Given the description of an element on the screen output the (x, y) to click on. 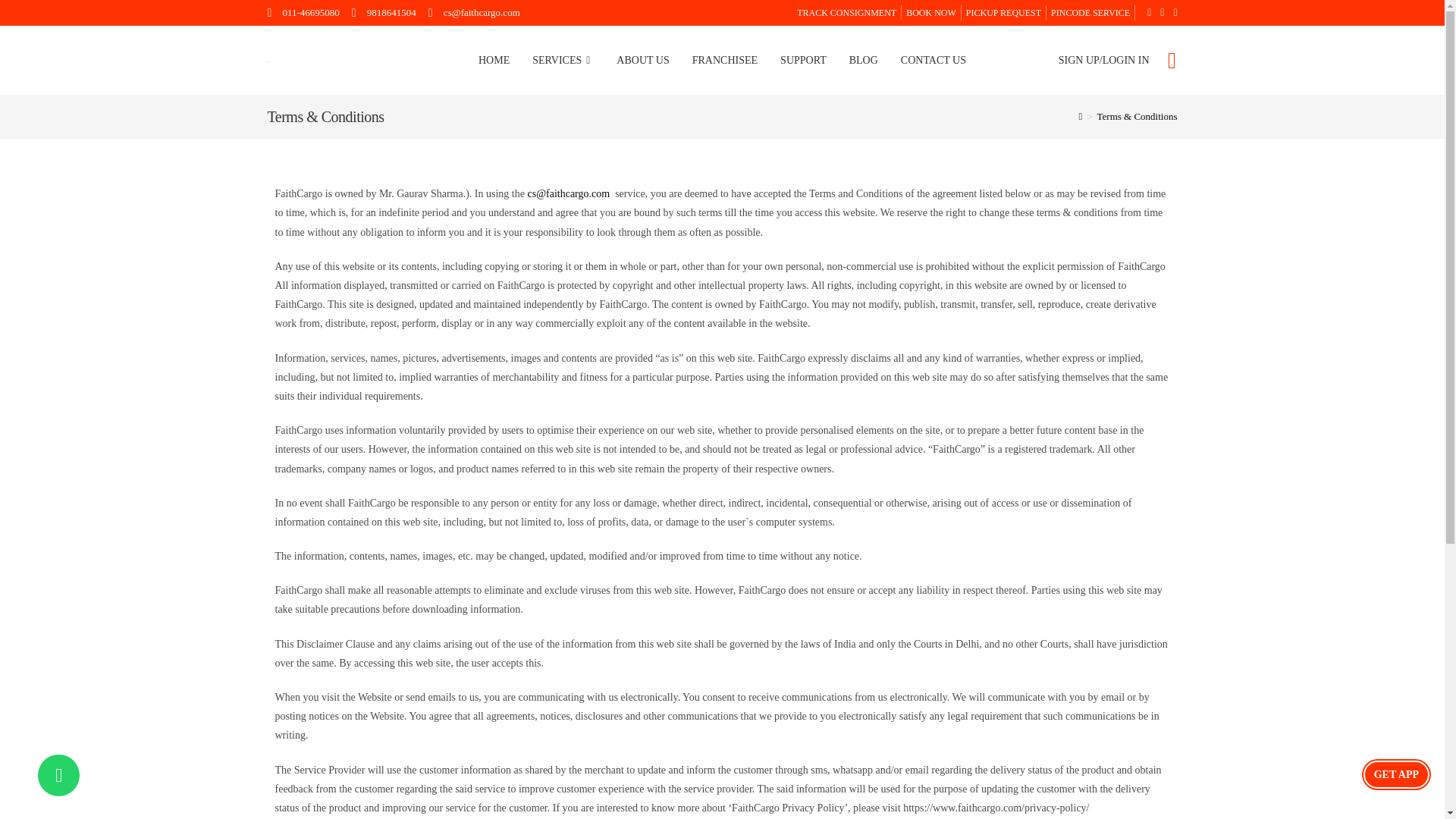
FRANCHISEE (724, 60)
ABOUT US (642, 60)
PICKUP REQUEST (1002, 12)
CONTACT US (932, 60)
011-46695080 (302, 12)
SERVICES (563, 60)
SUPPORT (803, 60)
PINCODE SERVICE (1087, 12)
BOOK NOW (930, 12)
9818641504 (384, 12)
